Given the description of an element on the screen output the (x, y) to click on. 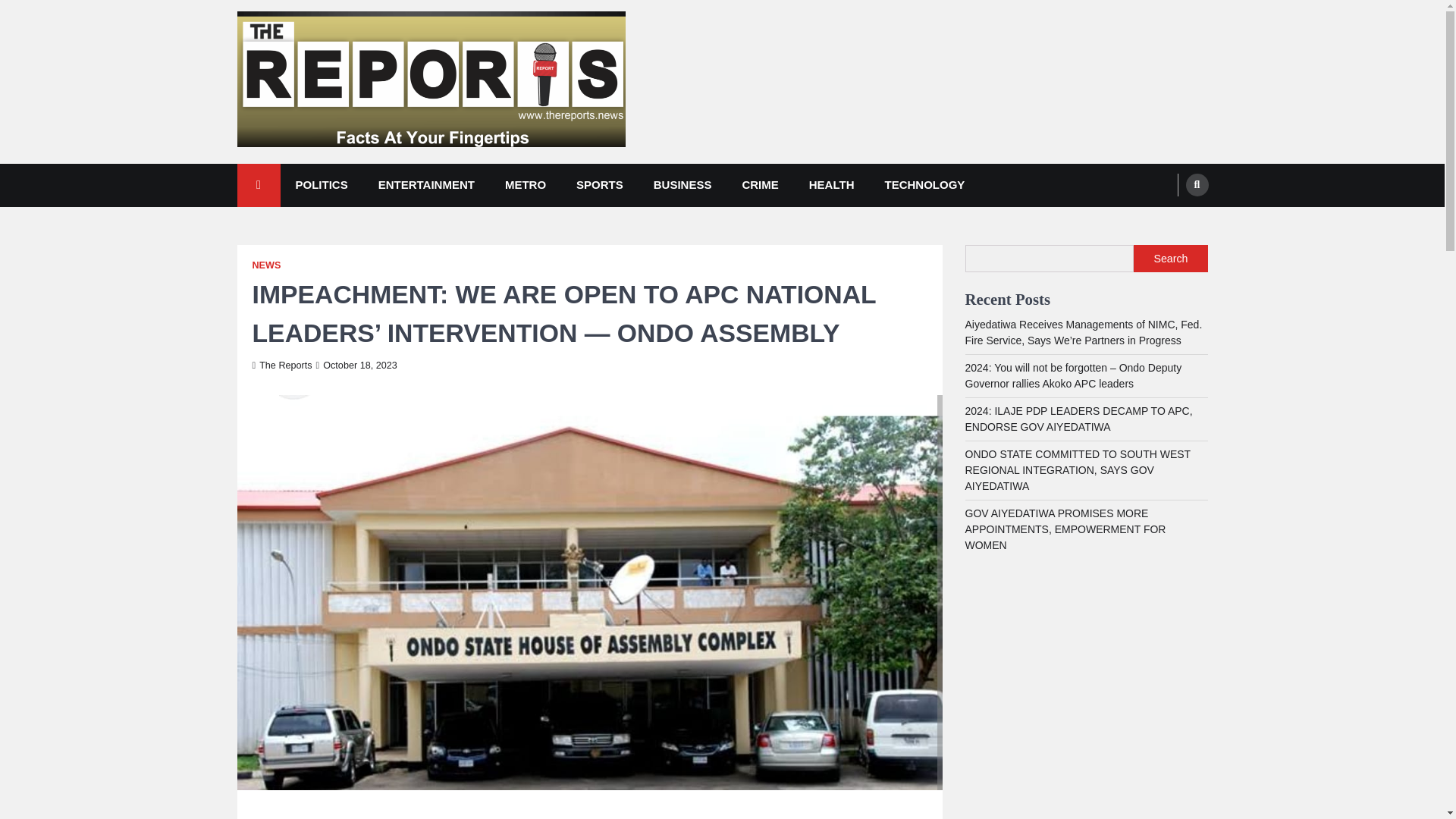
HEALTH (831, 185)
SPORTS (599, 185)
NEWS (266, 265)
The Reports (303, 167)
POLITICS (321, 185)
METRO (524, 185)
Search (1168, 220)
Search (1197, 184)
The Reports (281, 365)
TECHNOLOGY (924, 185)
BUSINESS (682, 185)
ENTERTAINMENT (425, 185)
